Given the description of an element on the screen output the (x, y) to click on. 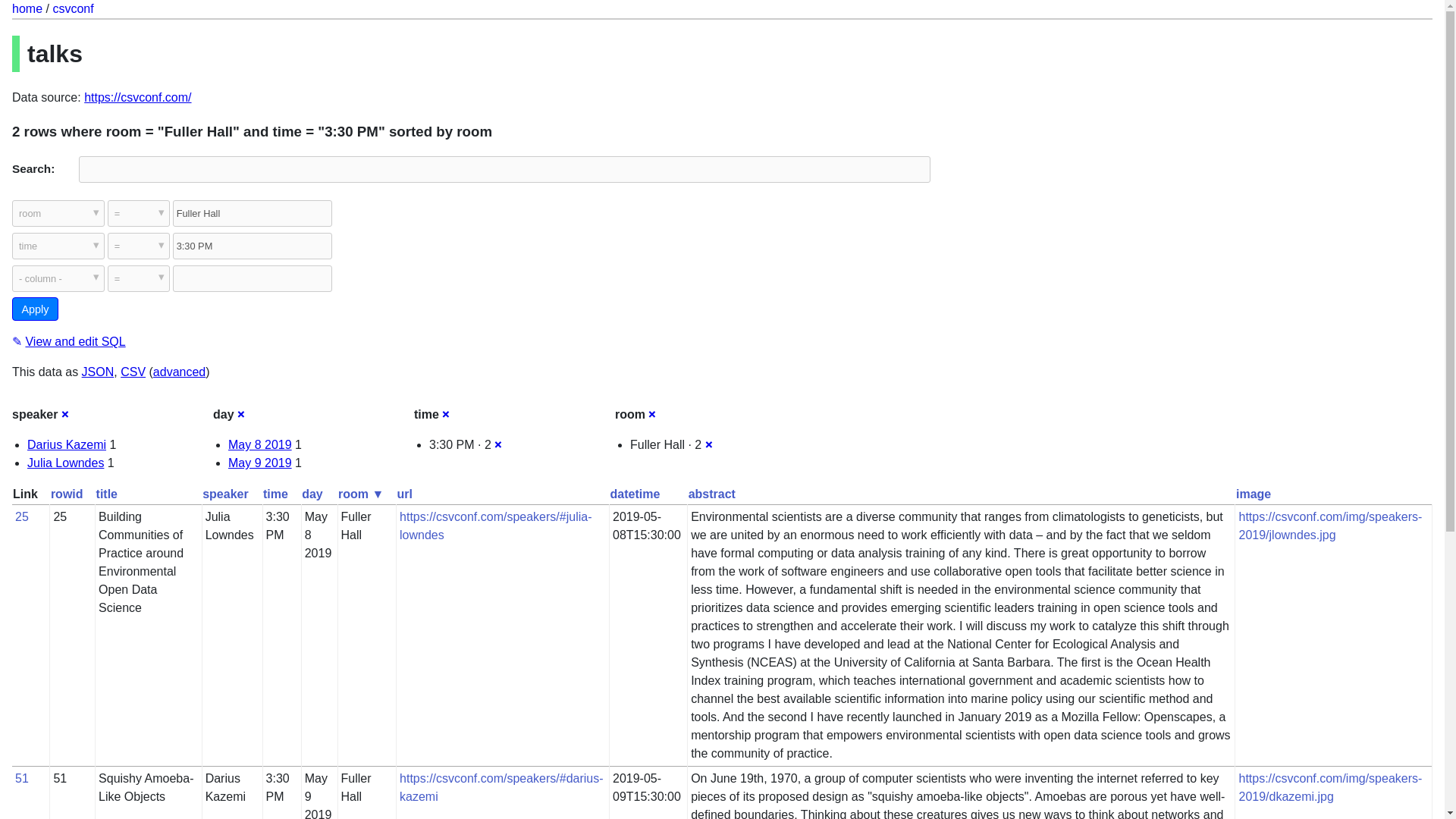
3:30 PM (252, 245)
abstract (711, 493)
May 8 2019 (260, 444)
csvconf (72, 8)
url (404, 493)
home (26, 8)
Apply (34, 309)
51 (21, 778)
day (312, 493)
CSV (132, 371)
25 (21, 516)
datetime (634, 493)
time (275, 493)
rowid (66, 493)
Darius Kazemi (66, 444)
